Given the description of an element on the screen output the (x, y) to click on. 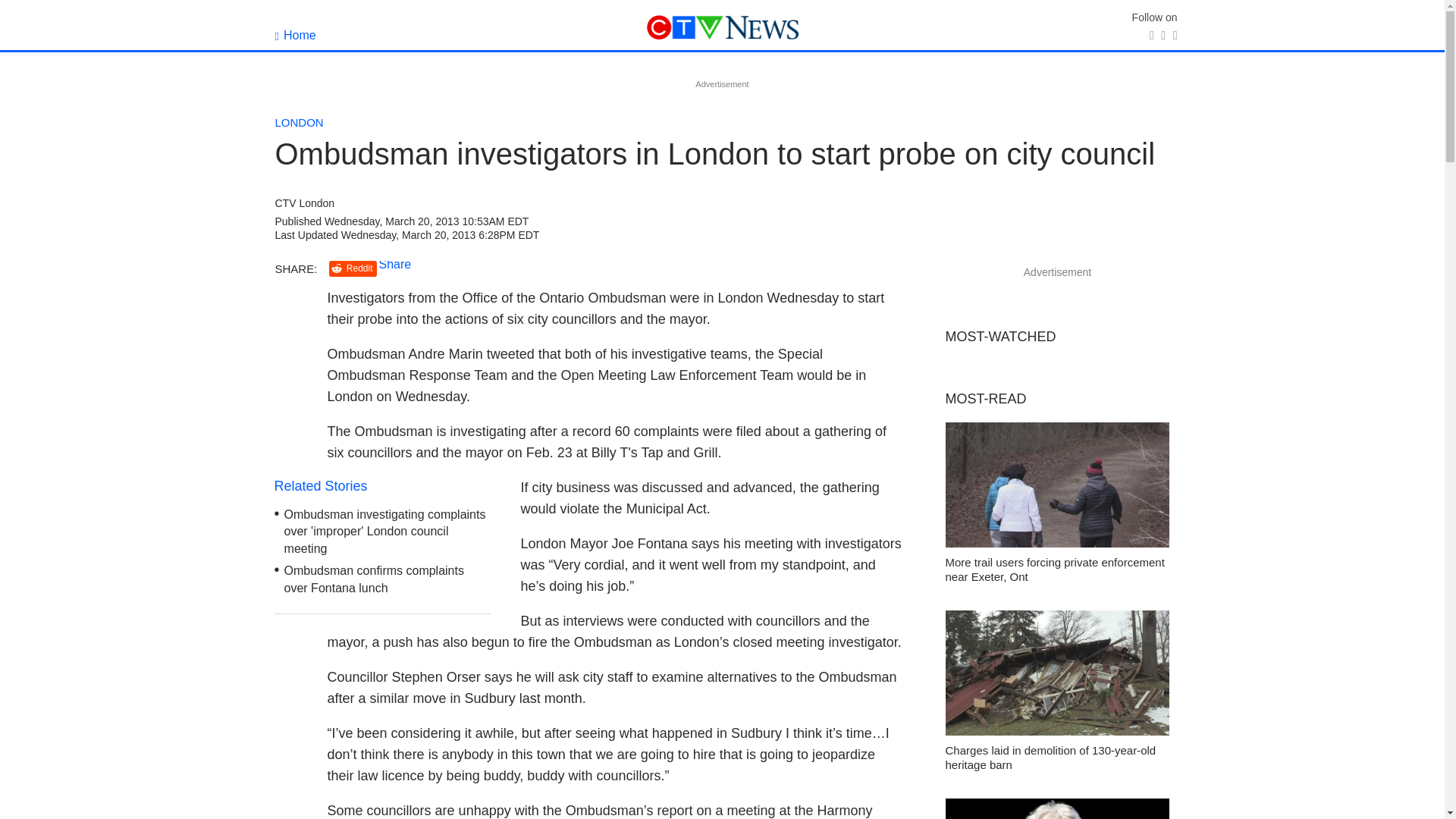
Share (395, 264)
Reddit (353, 268)
LONDON (299, 122)
Ombudsman confirms complaints over Fontana lunch (373, 579)
Home (295, 34)
